Given the description of an element on the screen output the (x, y) to click on. 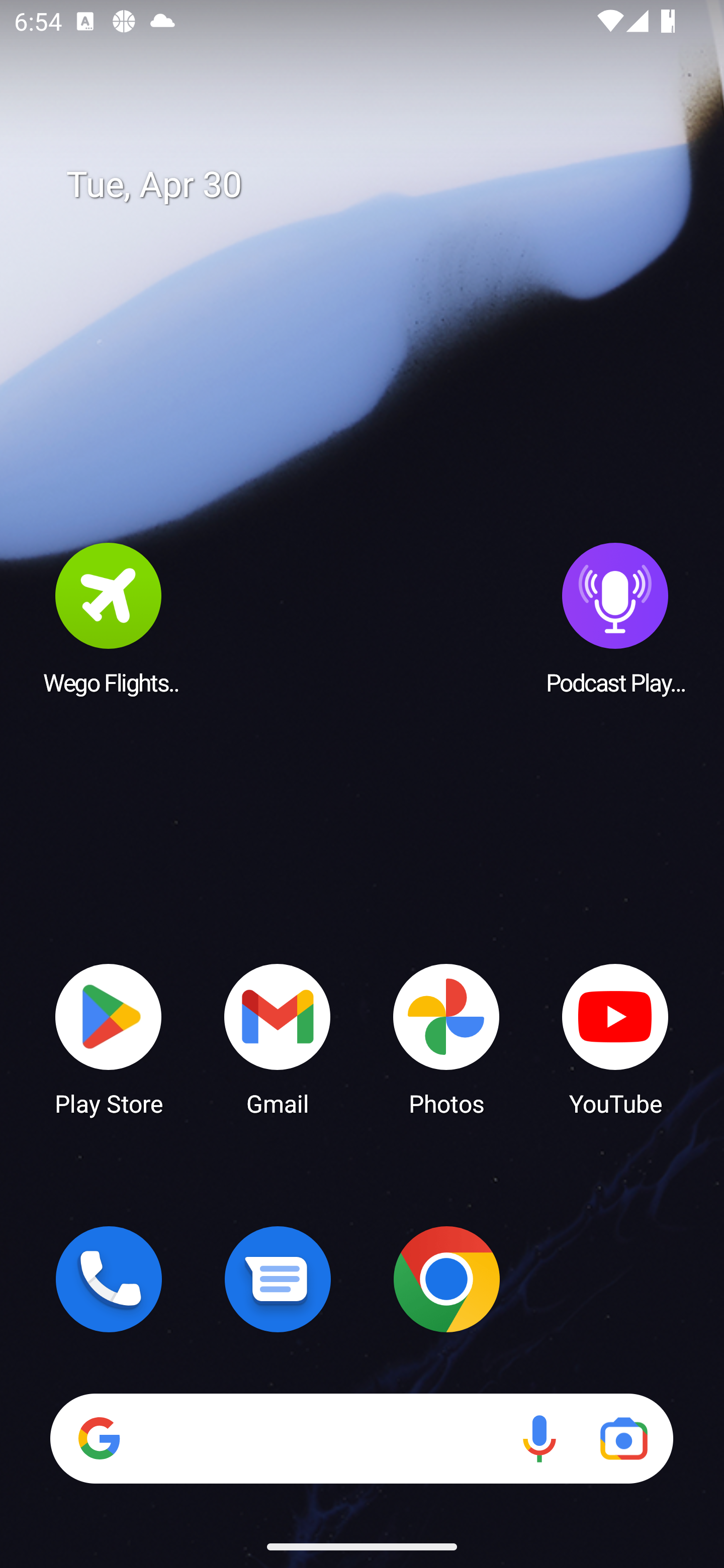
Tue, Apr 30 (375, 184)
Wego Flights & Hotels (108, 617)
Podcast Player (615, 617)
Play Store (108, 1038)
Gmail (277, 1038)
Photos (445, 1038)
YouTube (615, 1038)
Phone (108, 1279)
Messages (277, 1279)
Chrome (446, 1279)
Voice search (539, 1438)
Google Lens (623, 1438)
